Given the description of an element on the screen output the (x, y) to click on. 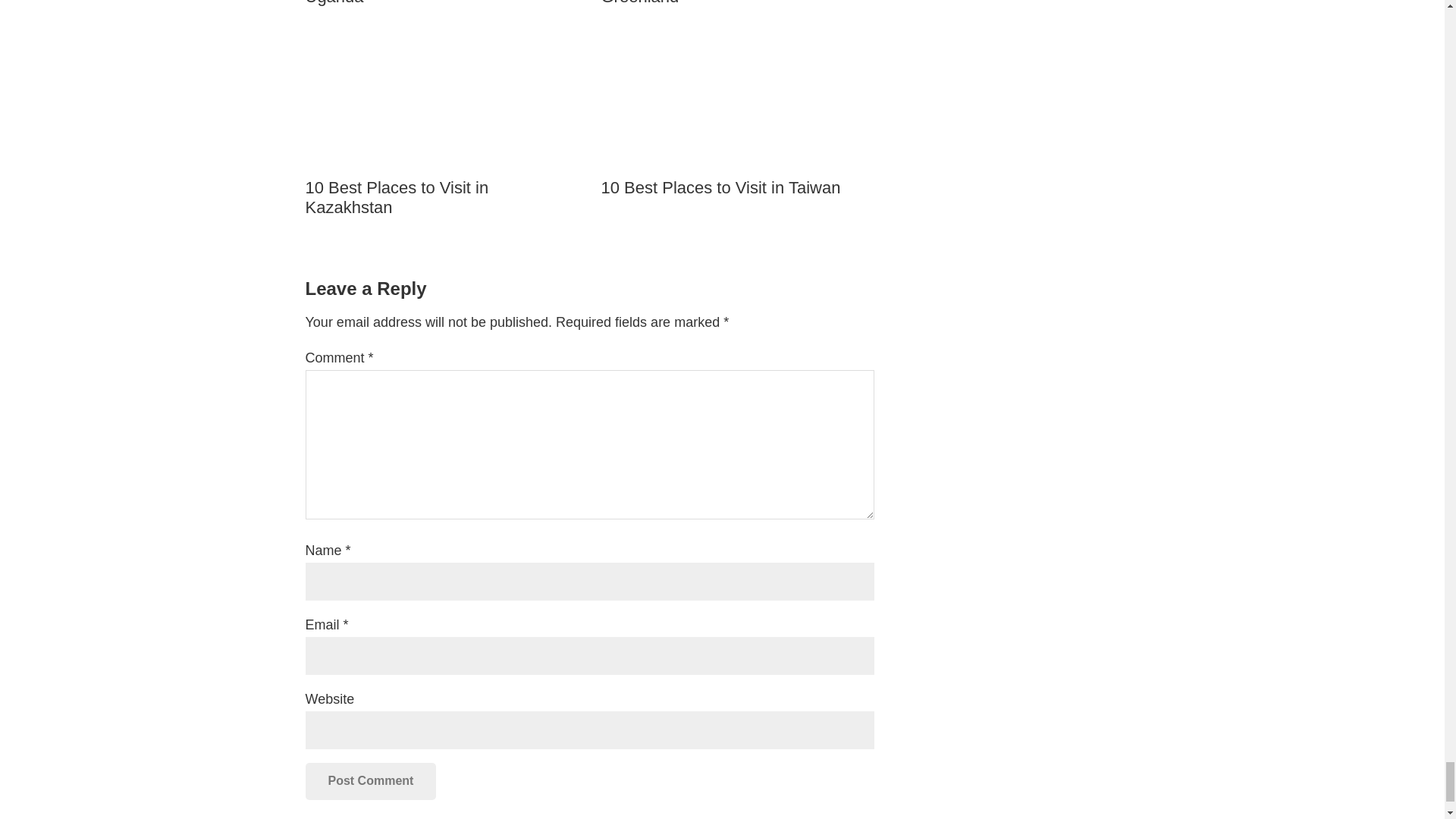
Discover the Hvalsey Church in Greenland (736, 3)
10 Most Beautiful National Parks in Uganda (441, 3)
Post Comment (369, 780)
10 Best Places to Visit in Kazakhstan (441, 120)
